Given the description of an element on the screen output the (x, y) to click on. 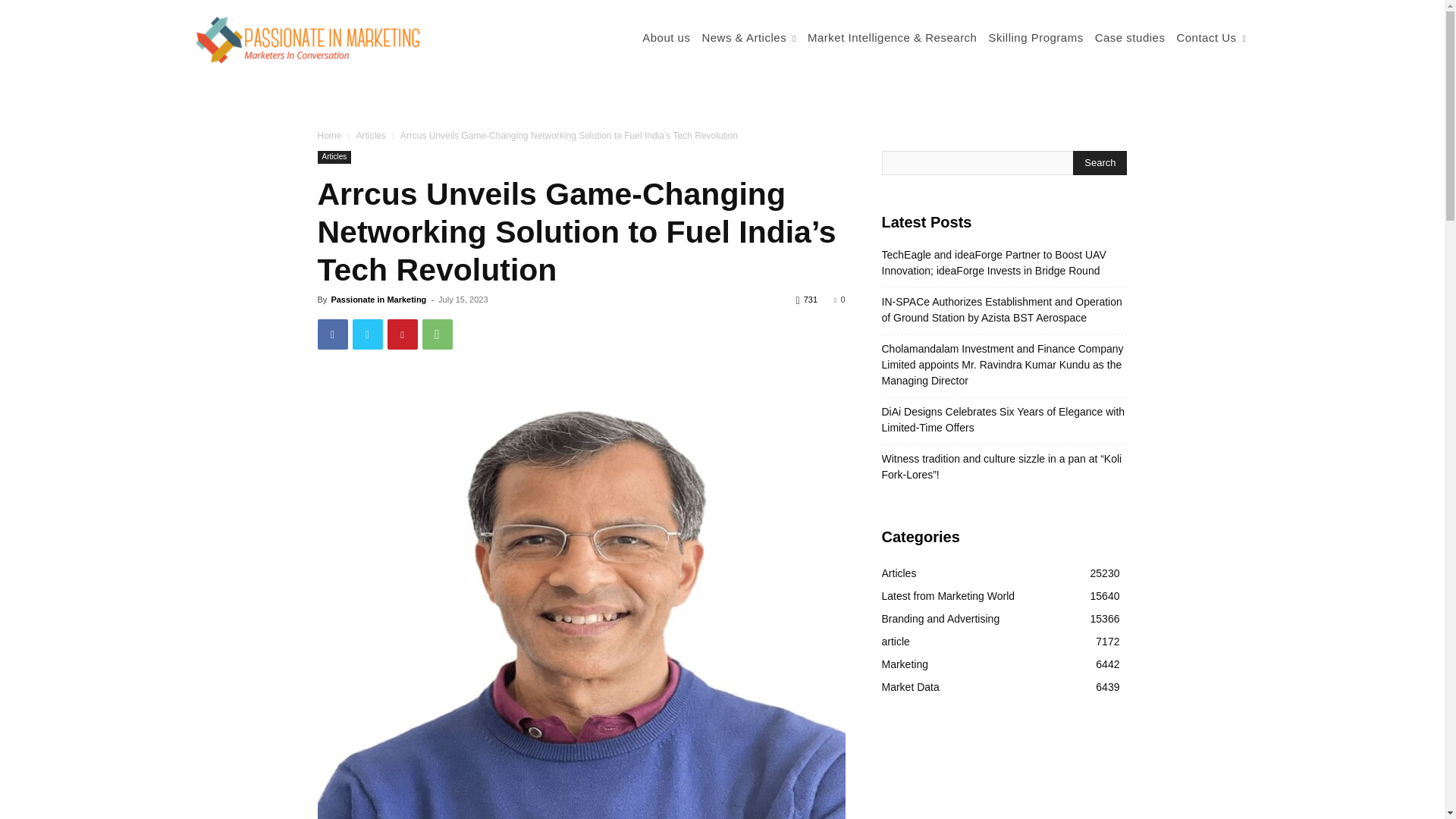
Facebook (332, 334)
Search (1099, 162)
WhatsApp (436, 334)
View all posts in Articles (370, 135)
Twitter (366, 334)
Pinterest (401, 334)
